Given the description of an element on the screen output the (x, y) to click on. 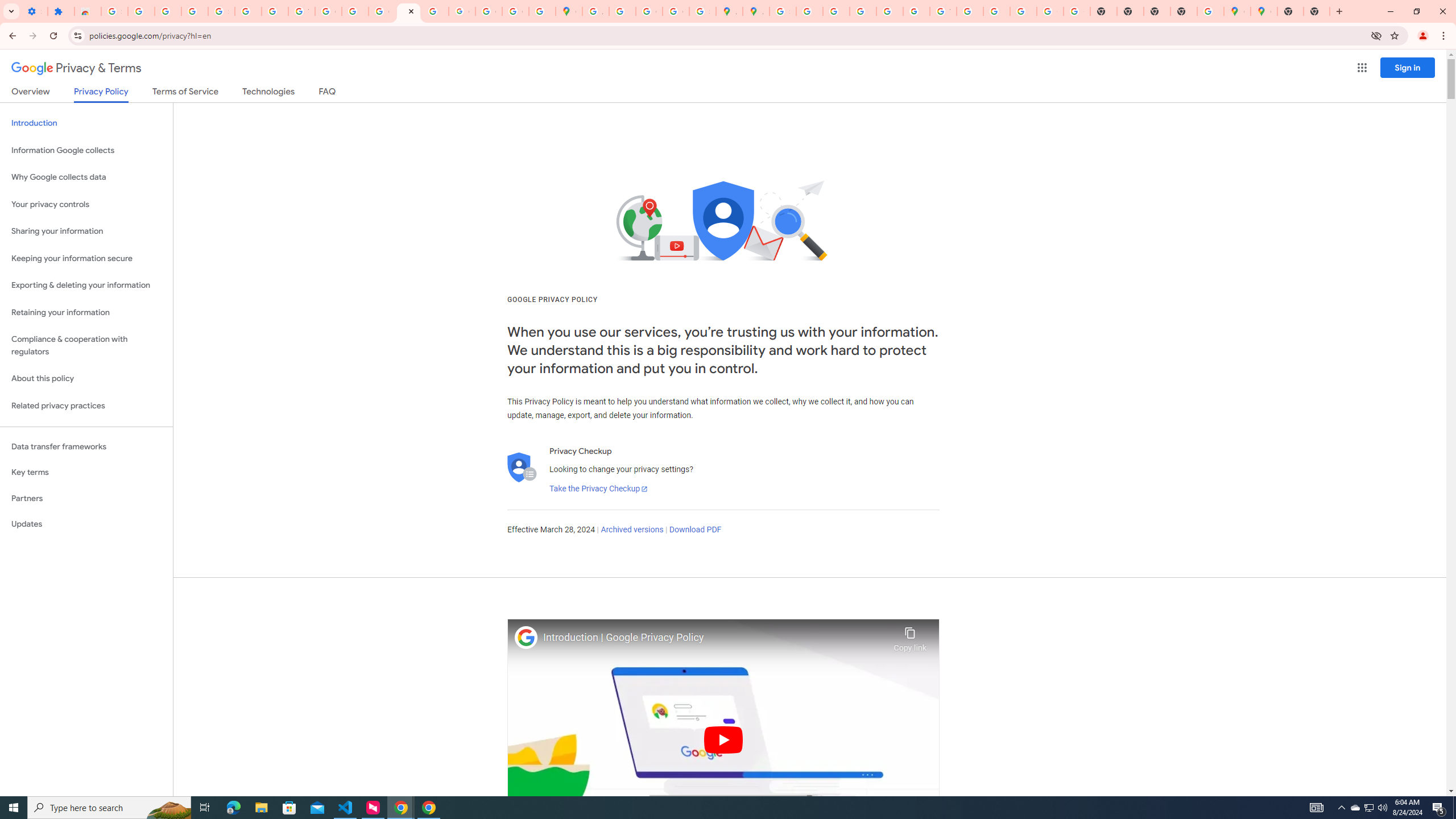
Terms of Service (184, 93)
Google apps (1362, 67)
Your privacy controls (86, 204)
Photo image of Google (526, 636)
Retaining your information (86, 312)
Play (723, 739)
https://scholar.google.com/ (355, 11)
New Tab (1316, 11)
Chrome (1445, 35)
